Given the description of an element on the screen output the (x, y) to click on. 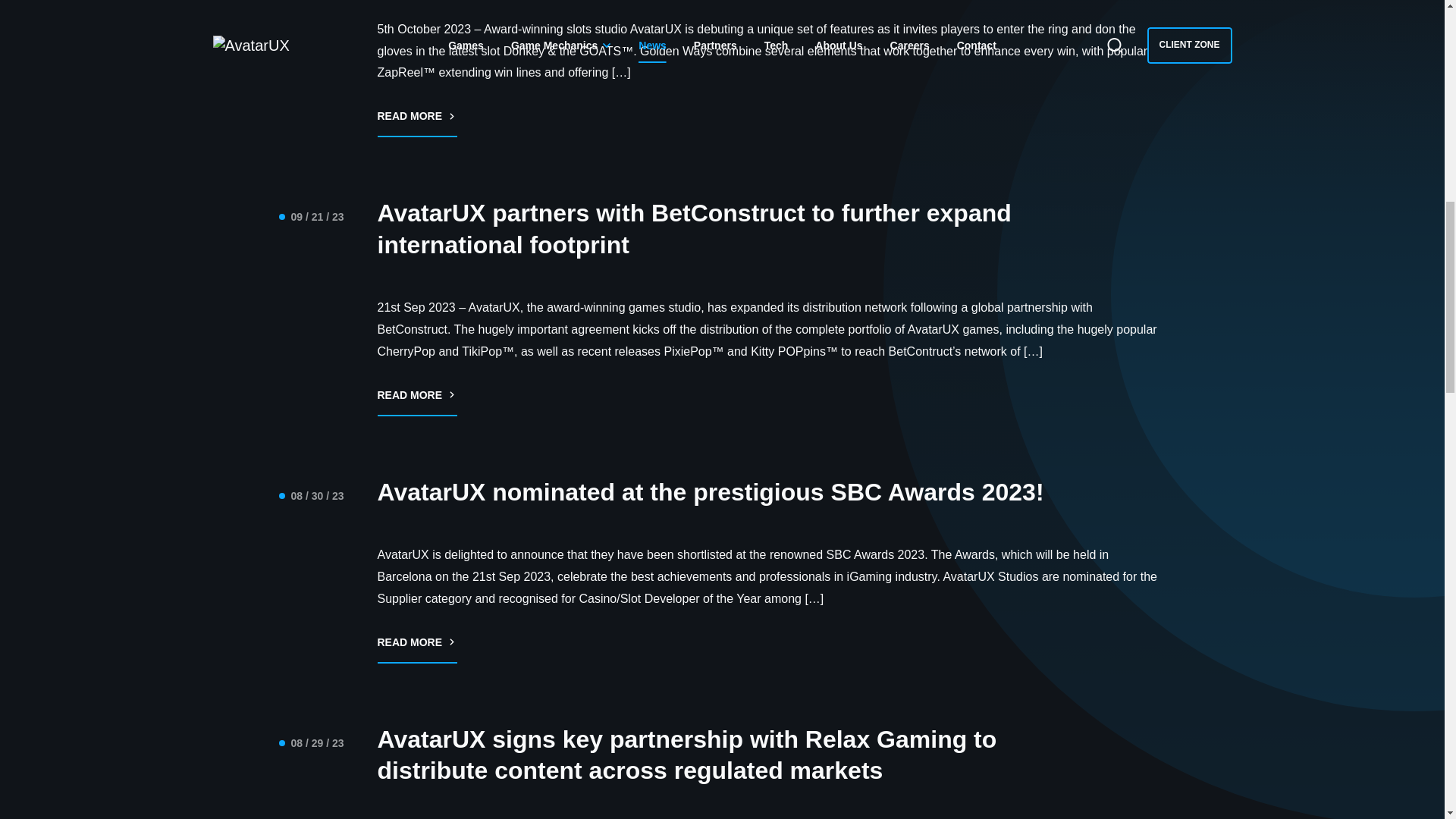
READ MORE (417, 123)
READ MORE (417, 649)
READ MORE (417, 402)
